Given the description of an element on the screen output the (x, y) to click on. 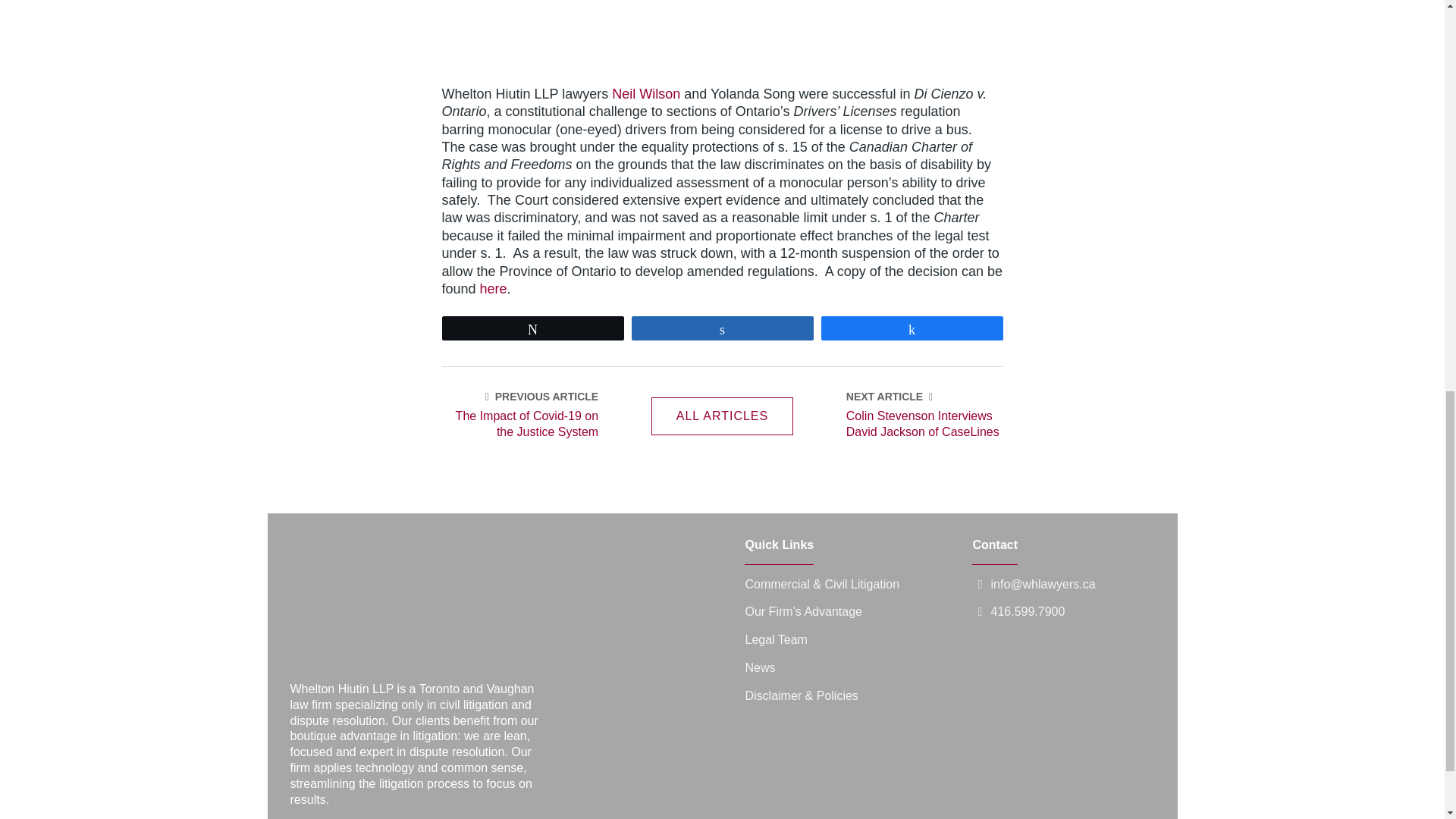
Legal Team (775, 639)
Colin Stevenson Interviews David Jackson of CaseLines (924, 424)
Neil Wilson (645, 93)
ALL ARTICLES (721, 415)
News (759, 667)
The Impact of Covid-19 on the Justice System (519, 424)
here (493, 288)
